Given the description of an element on the screen output the (x, y) to click on. 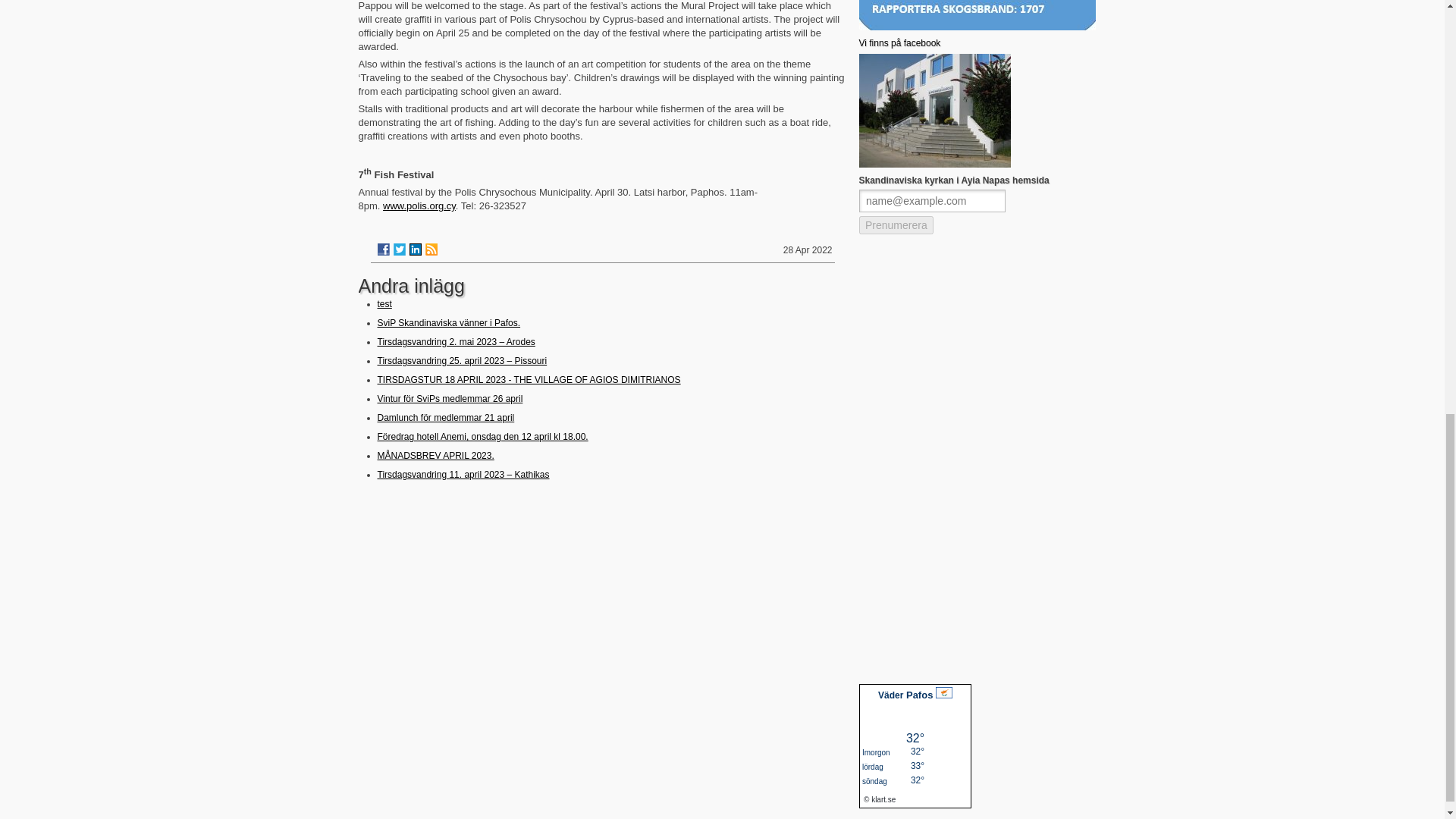
Facebbo (899, 42)
test (384, 303)
Skandin.kyrkan Ayia Napa (934, 163)
RSS (430, 249)
LinkedIn (415, 249)
Facebook (383, 249)
TIRSDAGSTUR 18 APRIL 2023 - THE VILLAGE OF AGIOS DIMITRIANOS (529, 379)
Twitter (398, 249)
www.polis.org.cy (418, 205)
Prenumerera (934, 215)
